Given the description of an element on the screen output the (x, y) to click on. 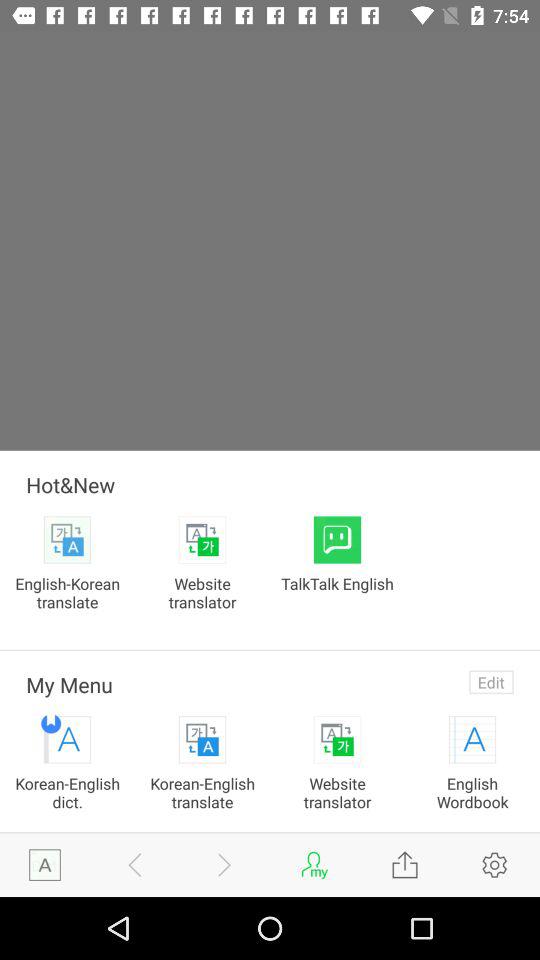
turn on the edit (491, 682)
